Given the description of an element on the screen output the (x, y) to click on. 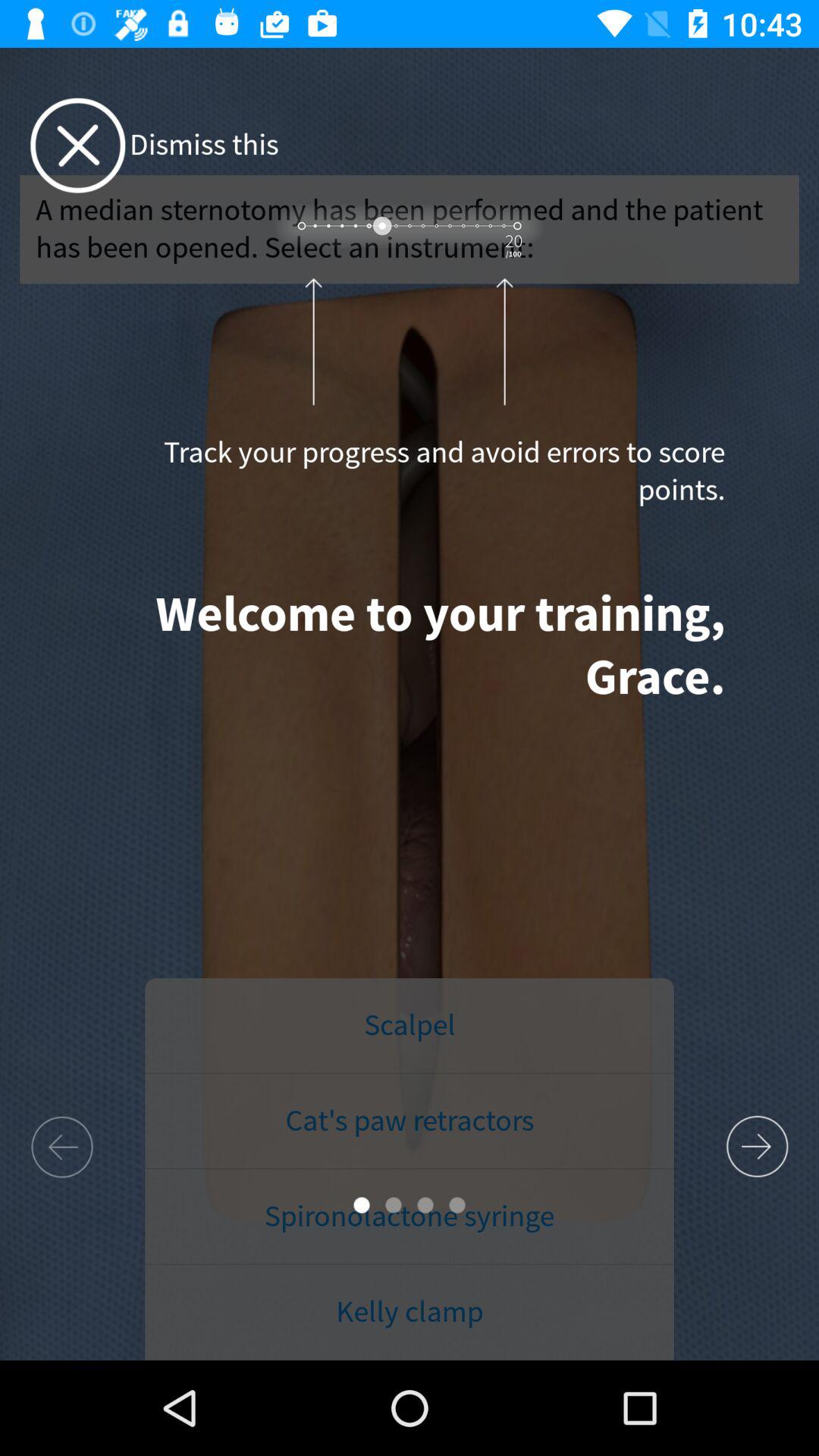
choose item below cat s paw (409, 1216)
